Given the description of an element on the screen output the (x, y) to click on. 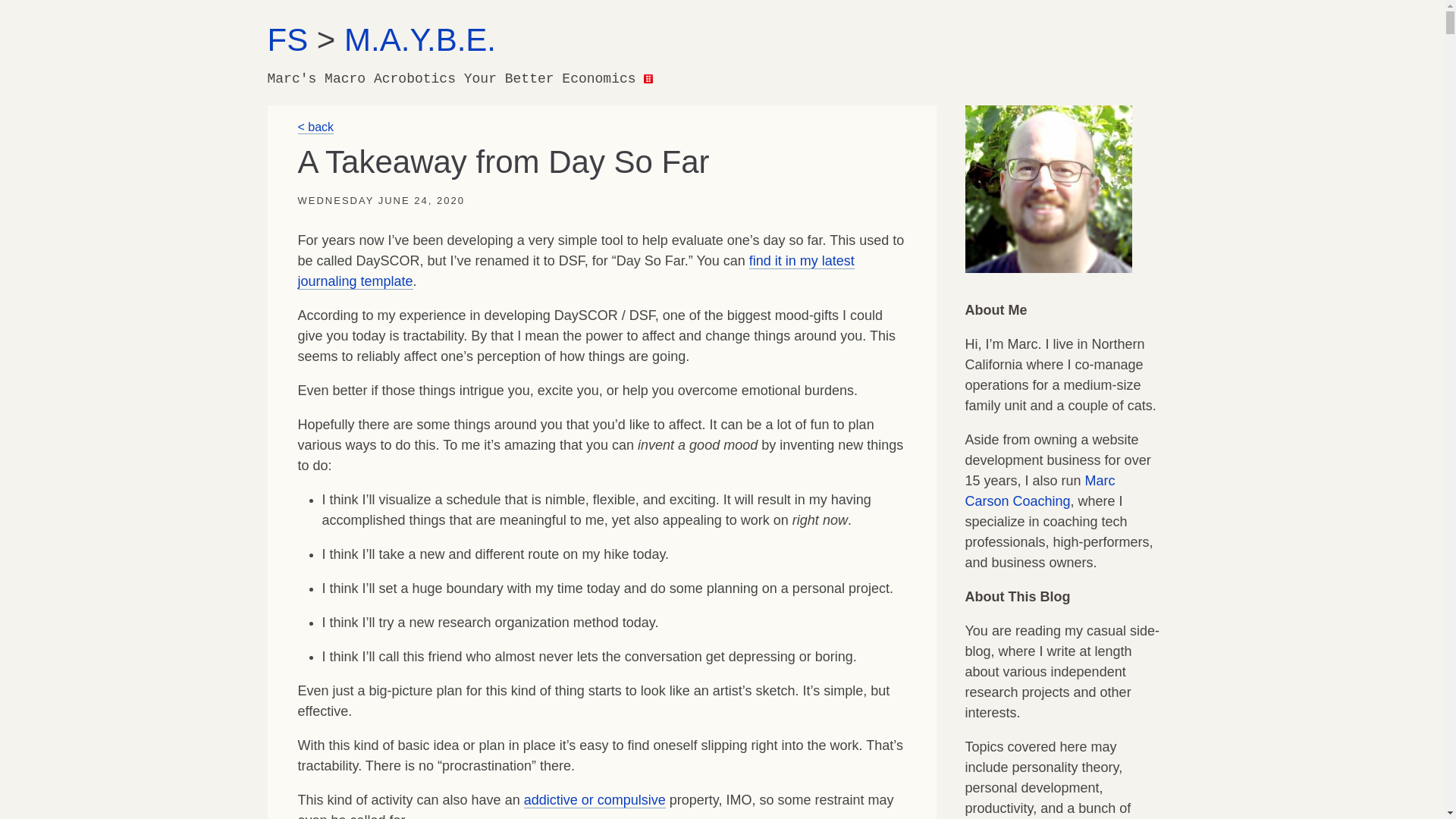
FS (286, 39)
addictive or compulsive (594, 800)
M.A.Y.B.E. (419, 39)
Marc Carson Coaching (1039, 490)
find it in my latest journaling template (575, 271)
